Given the description of an element on the screen output the (x, y) to click on. 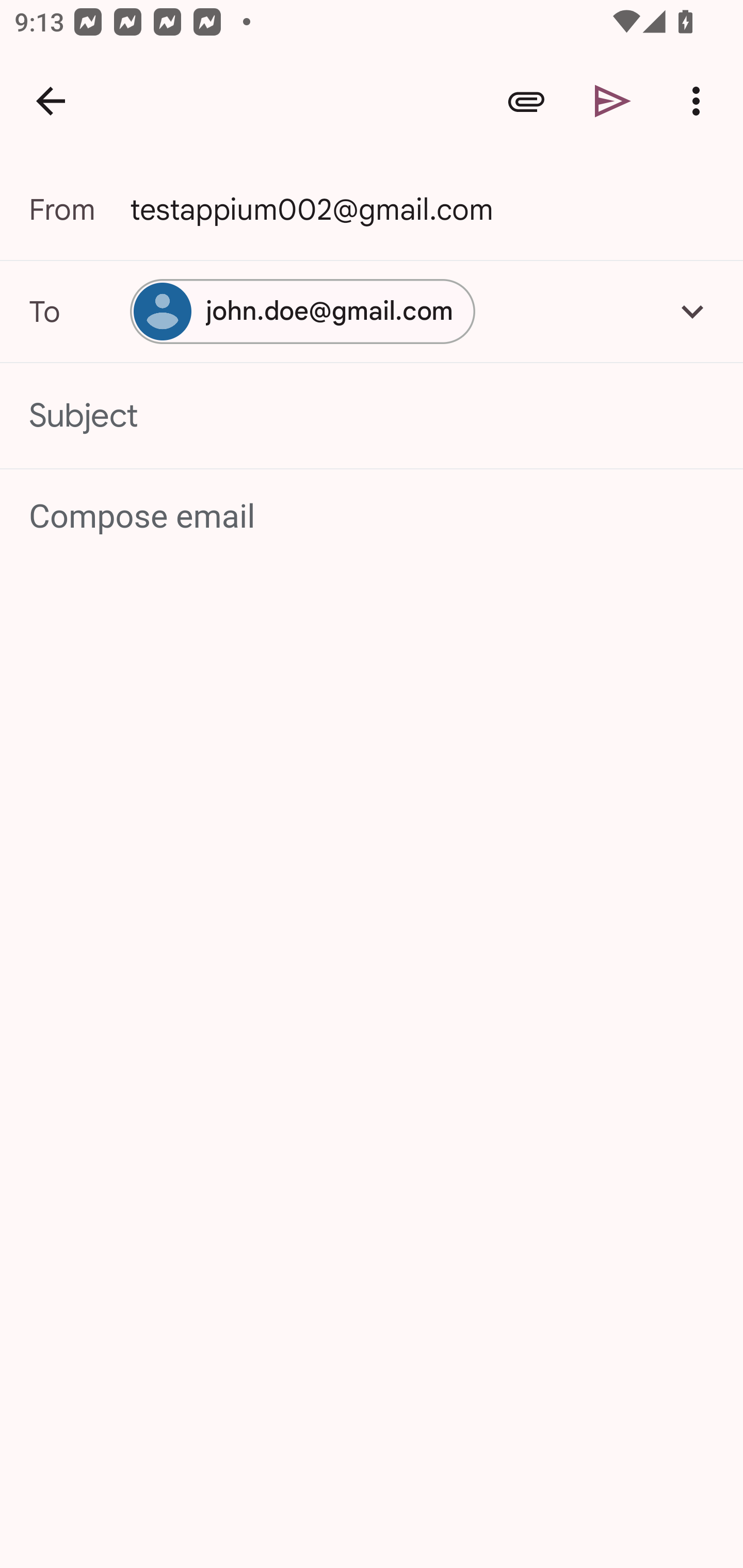
Navigate up (50, 101)
Attach file (525, 101)
Send (612, 101)
More options (699, 101)
From (79, 209)
Add Cc/Bcc (692, 311)
Subject (371, 415)
Compose email (372, 517)
